Given the description of an element on the screen output the (x, y) to click on. 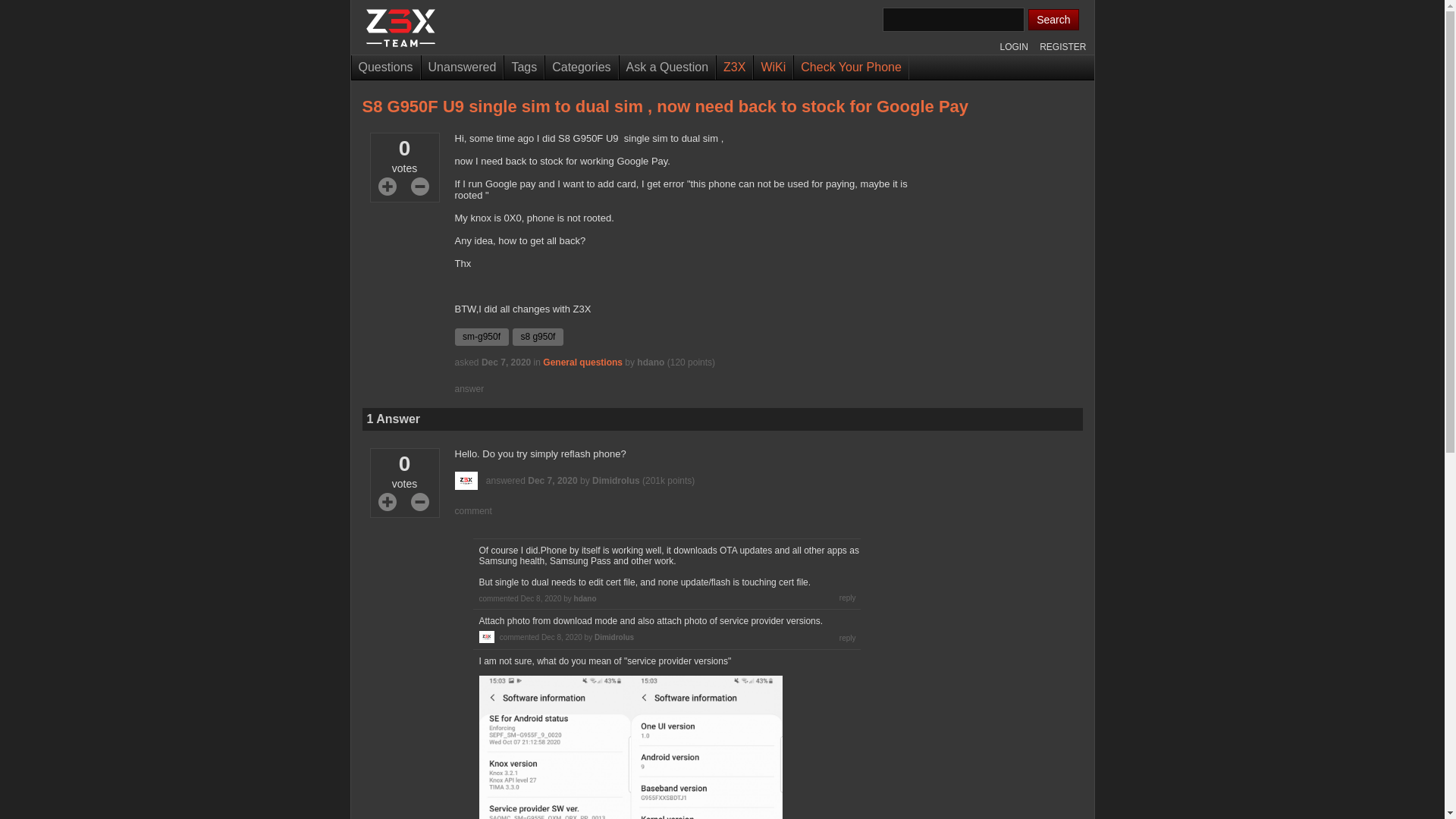
Categories (580, 67)
Reply to this comment (848, 637)
reply (848, 637)
Z3X (734, 67)
Check Your Phone (850, 67)
Click to vote up (386, 502)
Search (1052, 19)
General questions (583, 362)
reply (848, 637)
Click to vote down (419, 186)
Dimidrolus (616, 480)
Search (1052, 19)
s8 g950f (535, 336)
Reply to this comment (848, 597)
commented (498, 598)
